Given the description of an element on the screen output the (x, y) to click on. 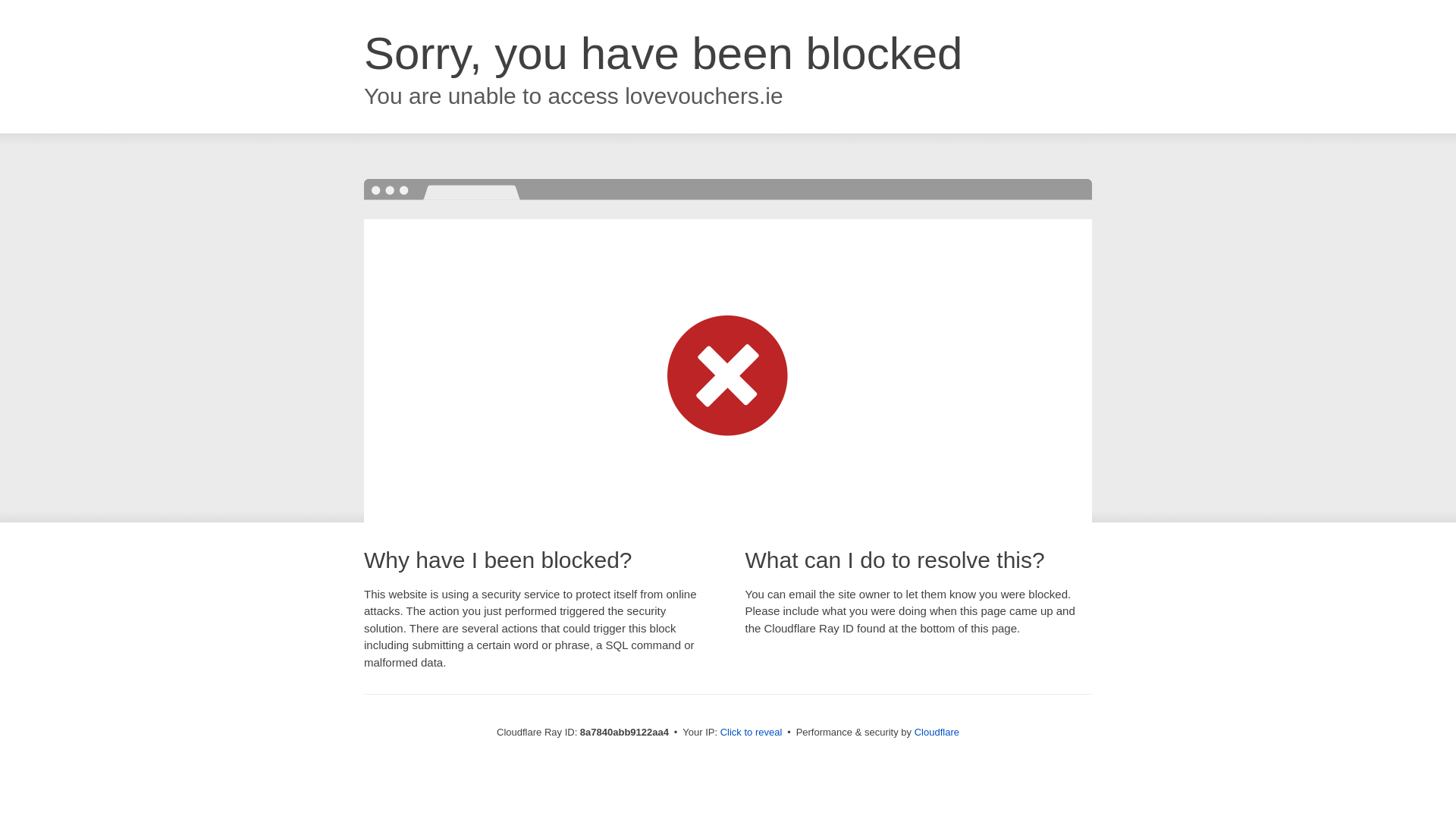
Click to reveal (751, 732)
Cloudflare (936, 731)
